Given the description of an element on the screen output the (x, y) to click on. 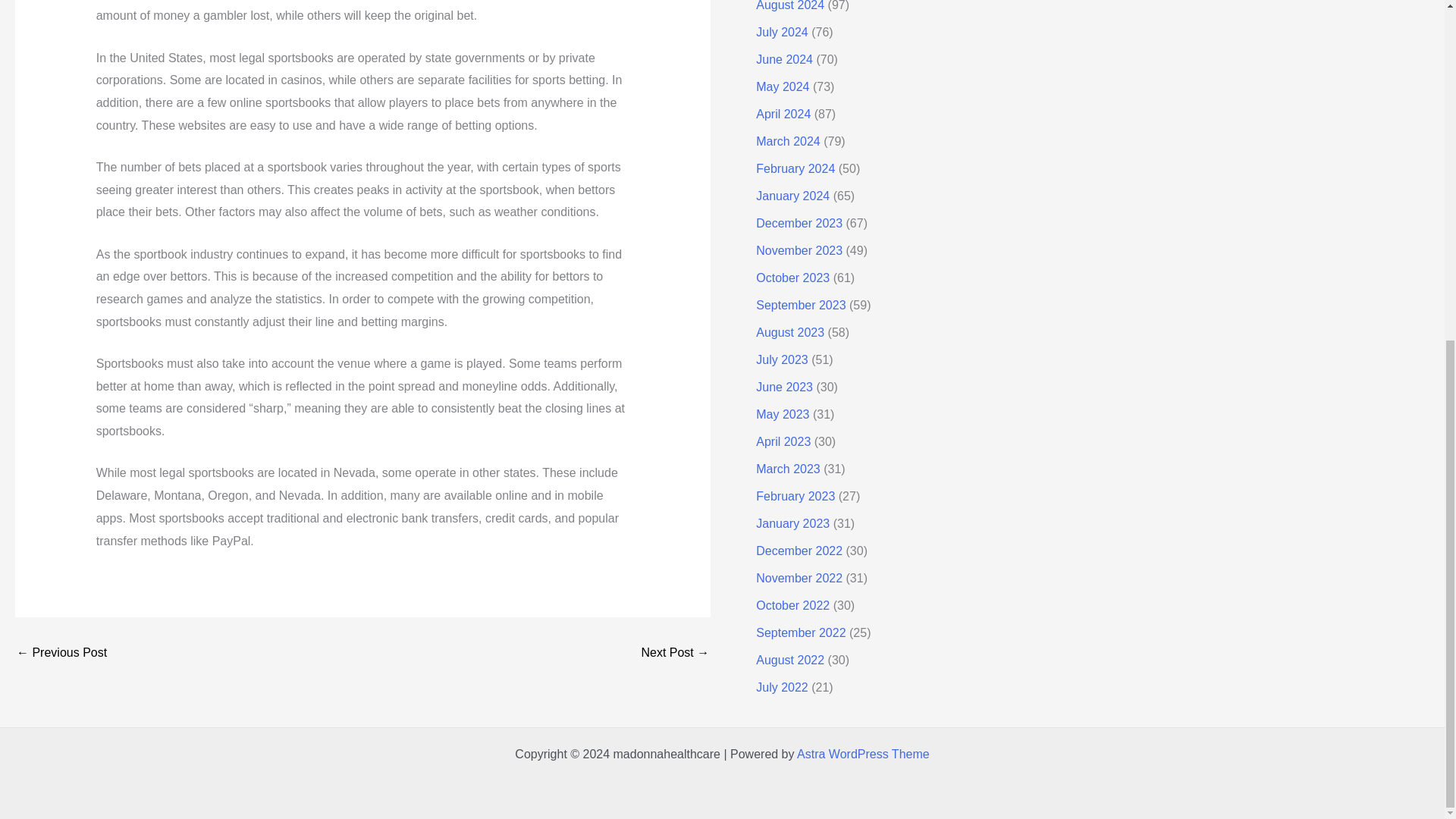
October 2023 (792, 277)
August 2024 (789, 5)
December 2022 (799, 550)
November 2022 (799, 577)
February 2024 (794, 168)
May 2024 (782, 86)
July 2023 (781, 359)
September 2022 (800, 632)
Gamble at a Casino Online (674, 653)
September 2023 (800, 305)
